Given the description of an element on the screen output the (x, y) to click on. 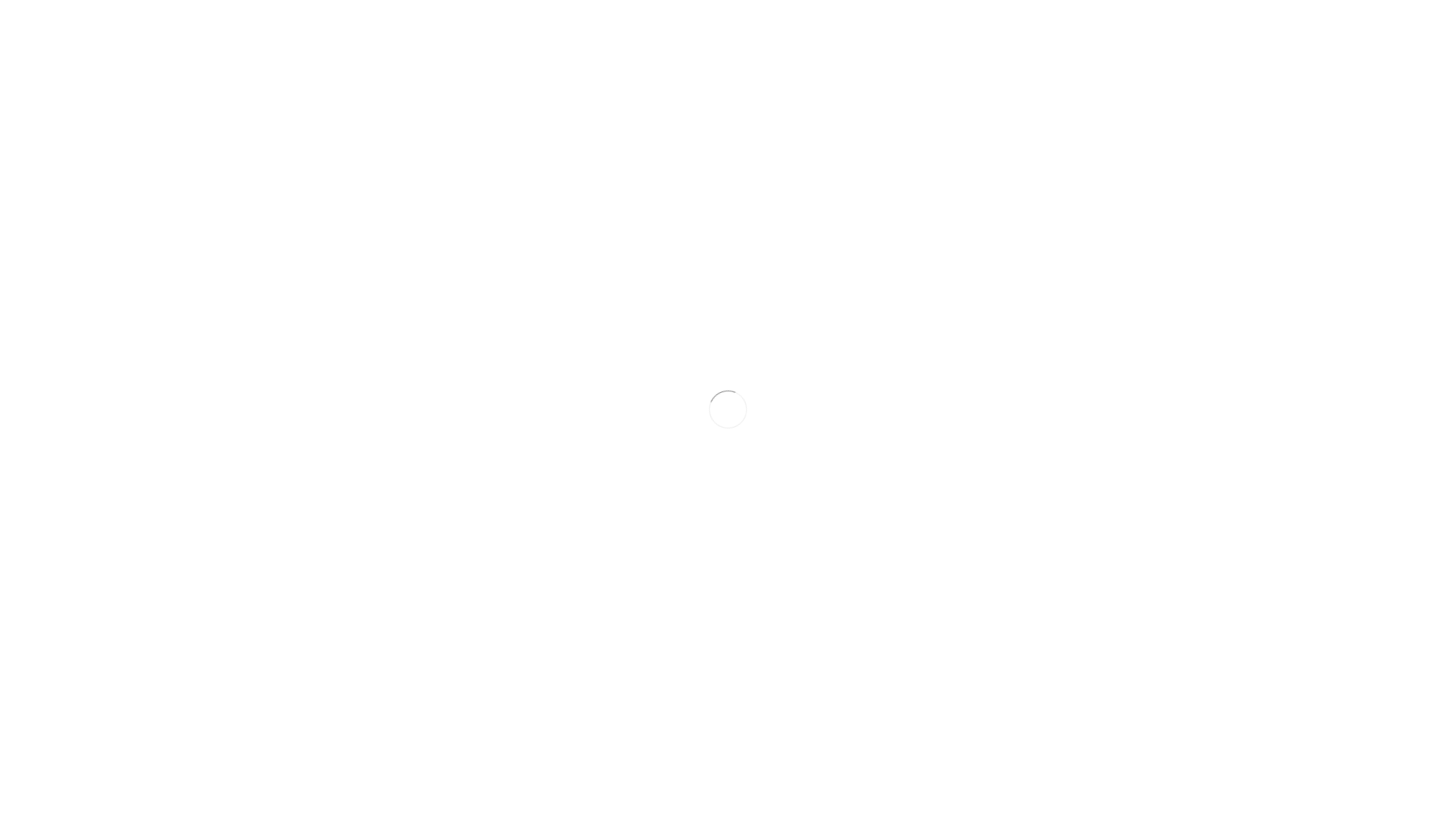
SWIMMING Element type: text (958, 26)
info@cityfitbathurst.com.au Element type: text (609, 182)
Home Element type: text (759, 91)
MEMBERSHIP Element type: text (728, 26)
markd2f@bigpond.com Element type: text (377, 182)
HOME Element type: text (672, 26)
CHILD CARE Element type: text (1020, 26)
NEWS UPDATES Element type: text (1093, 26)
TIMETABLES Element type: text (894, 26)
Privacy Element type: text (1139, 261)
Terms & Conditions Element type: text (1055, 261)
PERSONAL TRAINING Element type: text (814, 26)
